Given the description of an element on the screen output the (x, y) to click on. 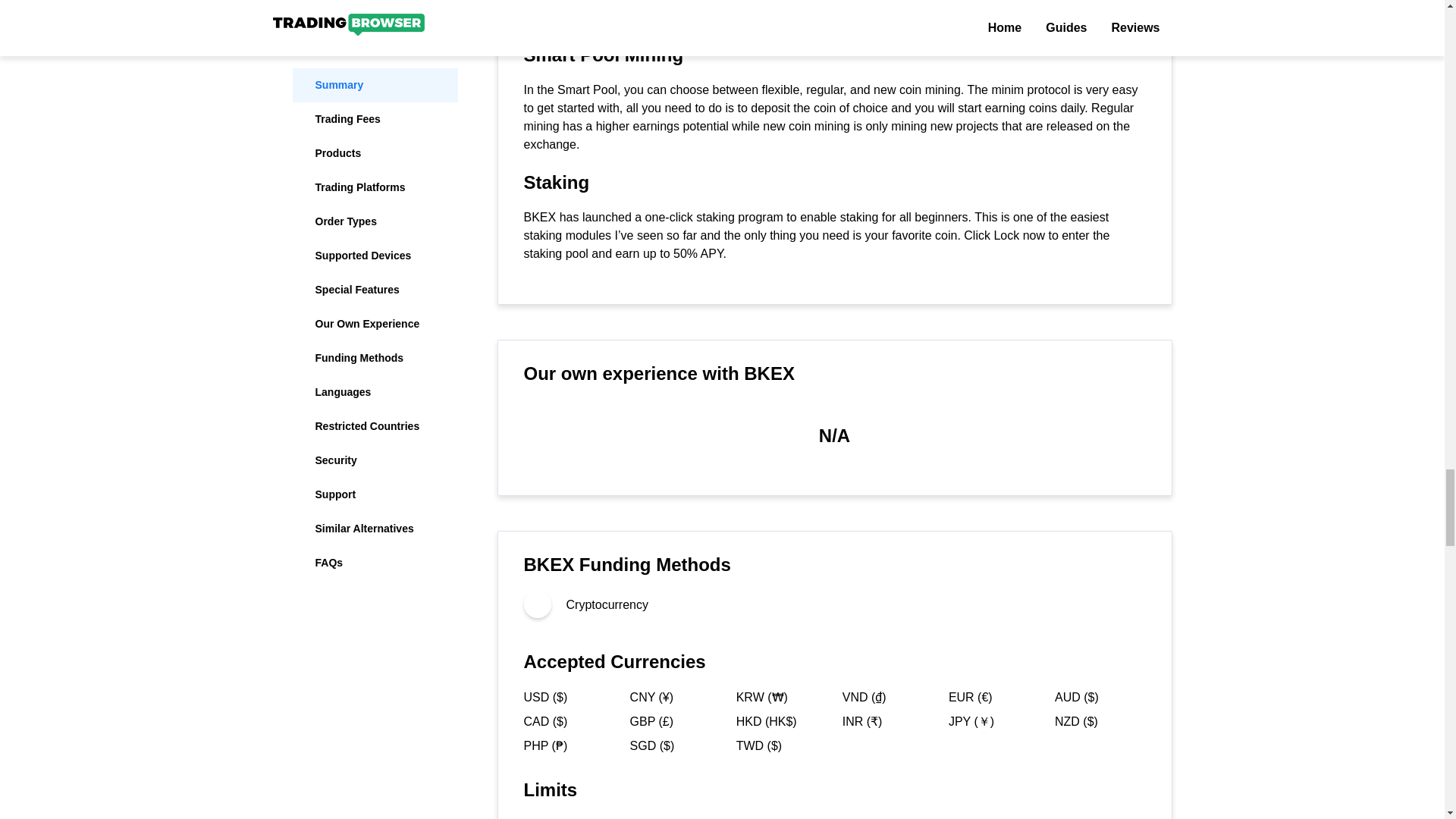
Australian Dollar (1098, 697)
New Zealand Dollar (1098, 721)
Euro (992, 697)
Singapore Dollar (673, 746)
Canadian Dollar (566, 721)
Vietnamese Dong (886, 697)
US Dollar (566, 697)
Indian Rupee (886, 721)
Chinese Yuan (673, 697)
Hong Kong Dollar (780, 721)
Philippine Piso (566, 746)
British Pound (673, 721)
Japanese Yen (992, 721)
New Taiwan Dollar (780, 746)
South Korean Won (780, 697)
